Given the description of an element on the screen output the (x, y) to click on. 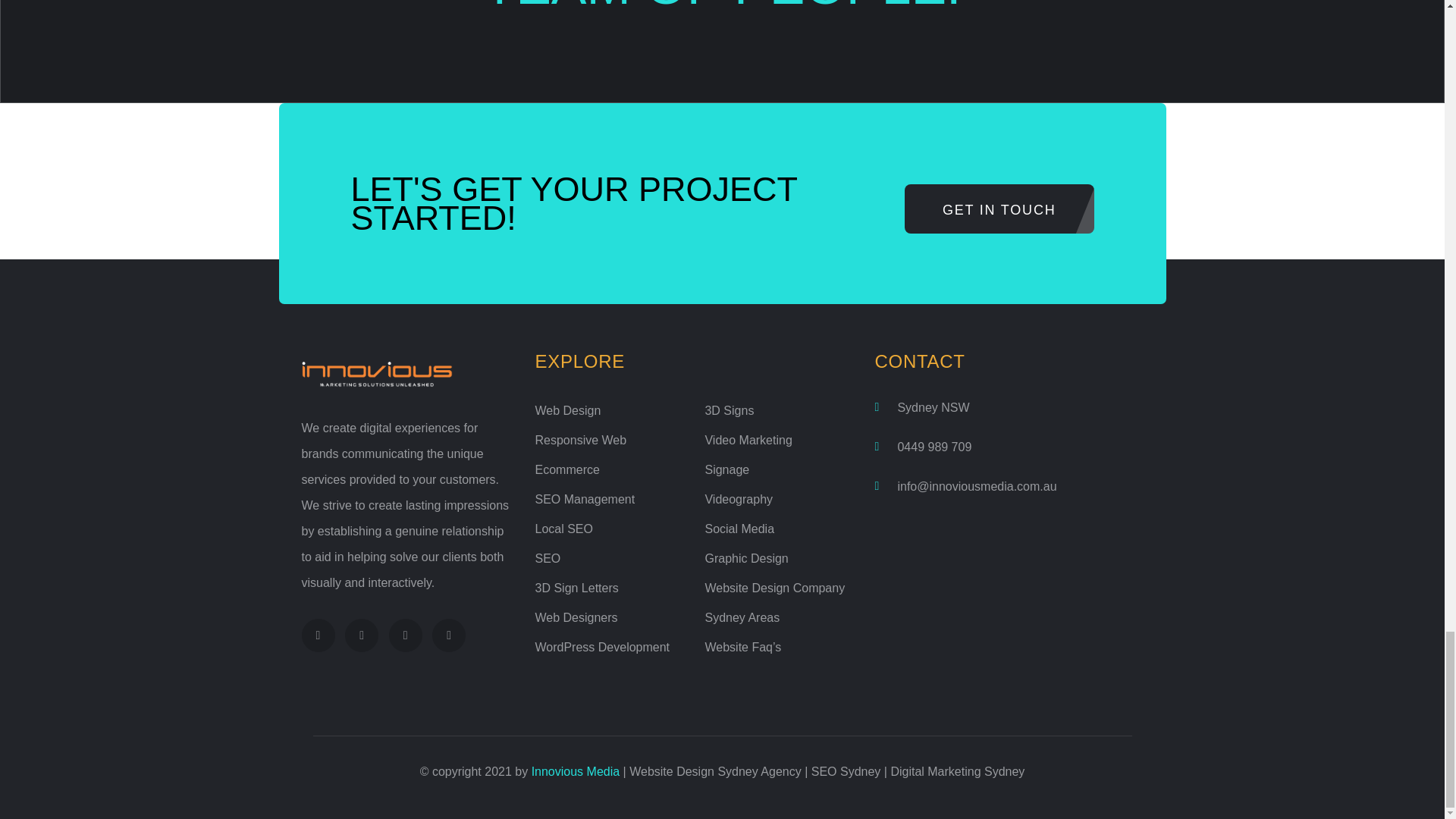
GET IN TOUCH (999, 208)
Responsive Web (581, 440)
Web Design (568, 410)
